Given the description of an element on the screen output the (x, y) to click on. 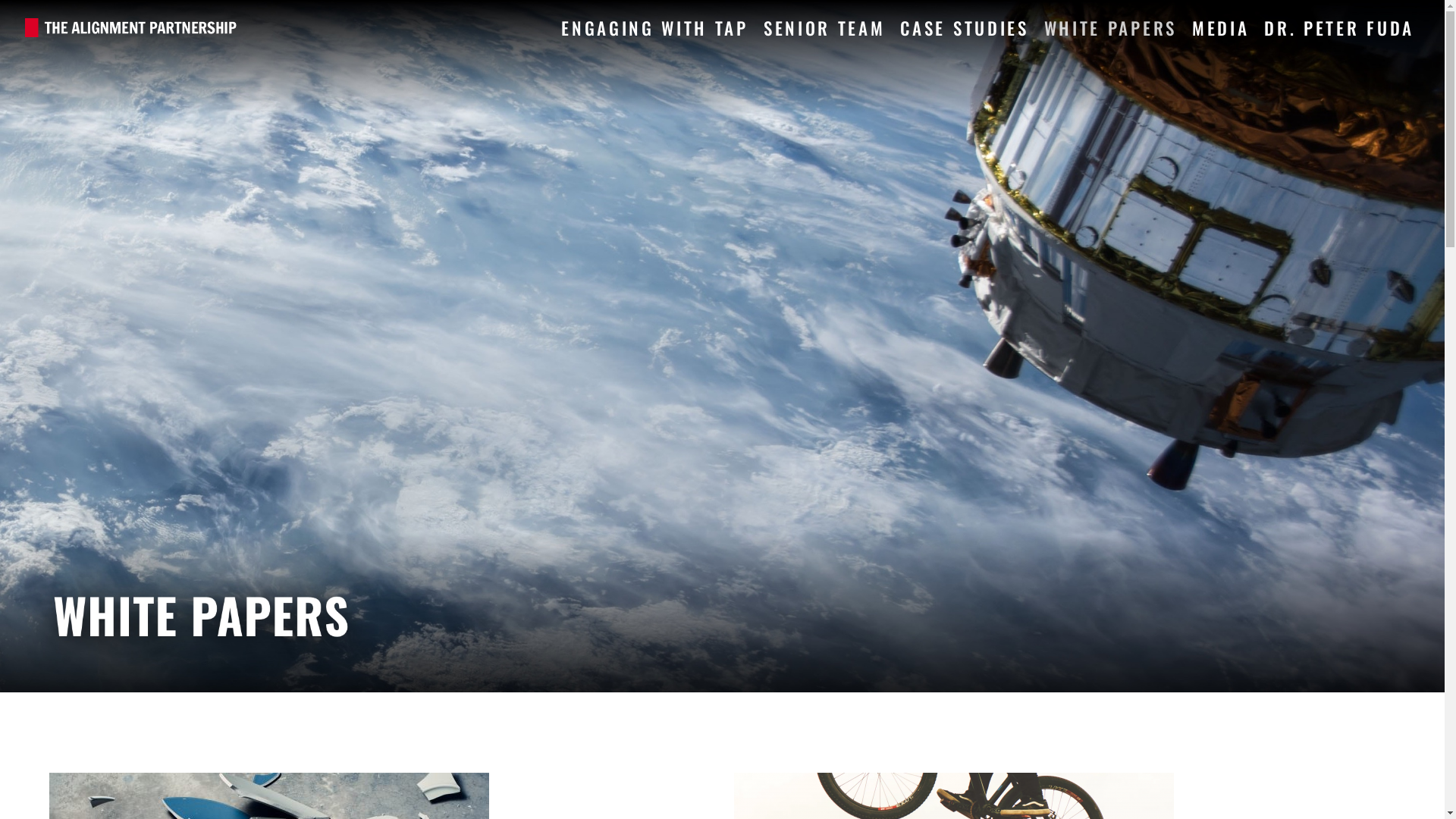
MEDIA Element type: text (1220, 26)
ENGAGING WITH TAP Element type: text (654, 26)
SENIOR TEAM Element type: text (824, 26)
DR. PETER FUDA Element type: text (1338, 26)
CASE STUDIES Element type: text (963, 26)
WHITE PAPERS Element type: text (1110, 26)
